Given the description of an element on the screen output the (x, y) to click on. 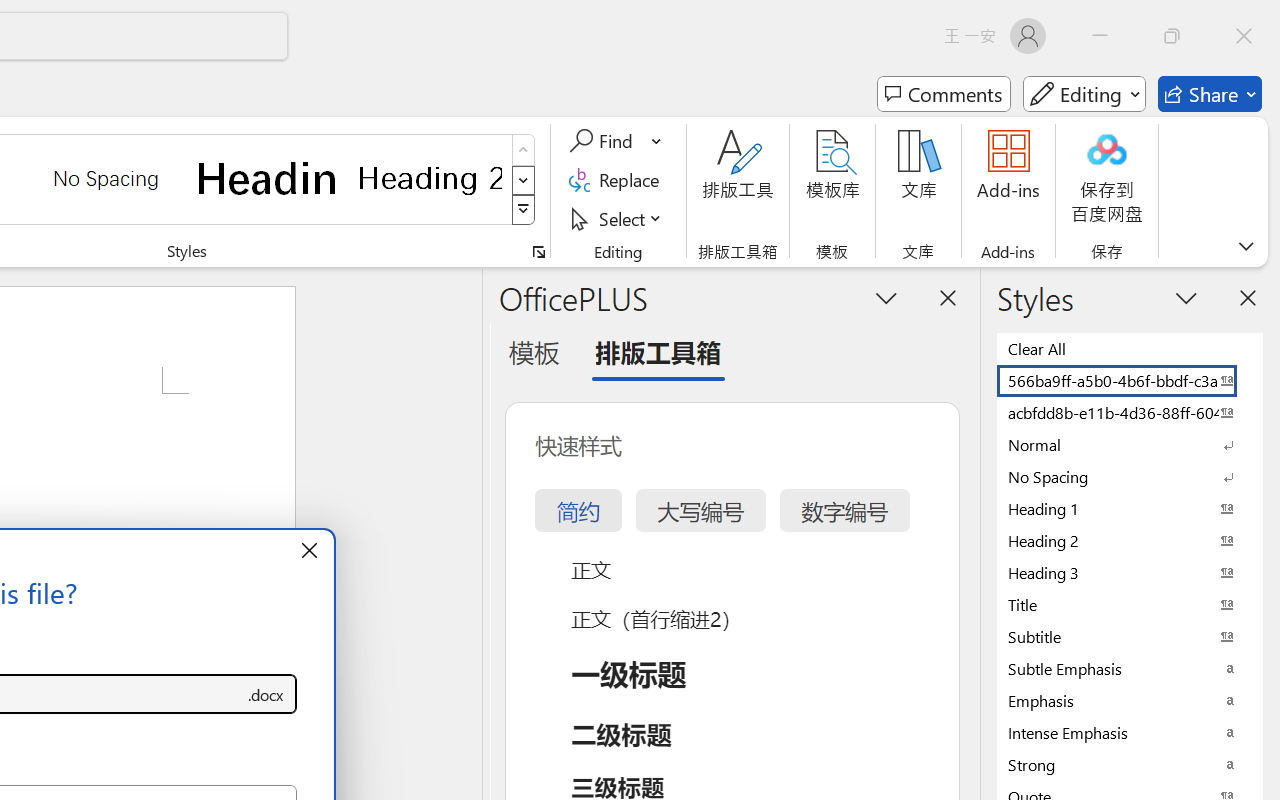
Normal (1130, 444)
Strong (1130, 764)
Heading 1 (267, 178)
Task Pane Options (886, 297)
Subtitle (1130, 636)
Styles (523, 209)
Mode (1083, 94)
Share (1210, 94)
Heading 3 (1130, 572)
